Given the description of an element on the screen output the (x, y) to click on. 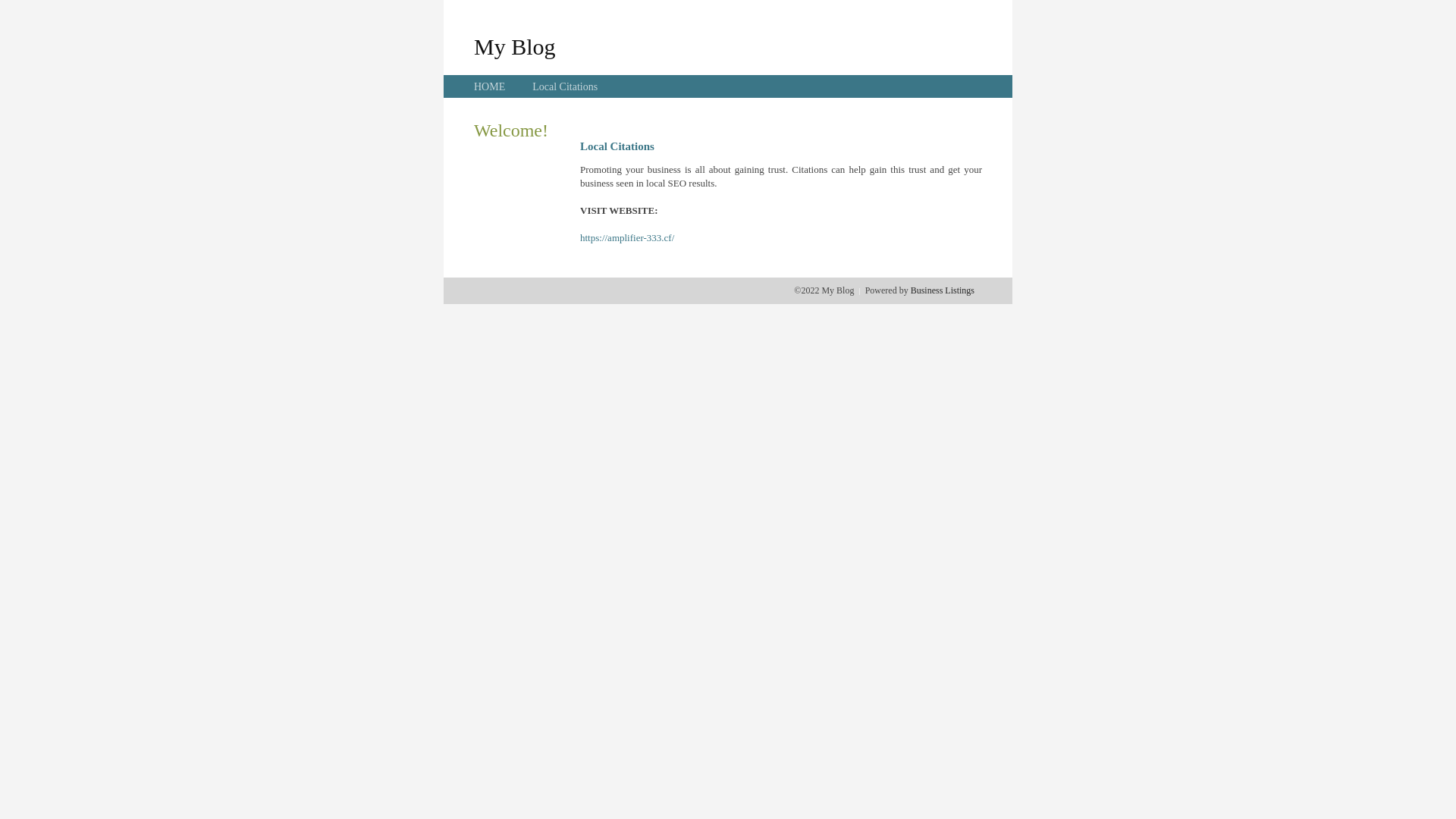
HOME Element type: text (489, 86)
https://amplifier-333.cf/ Element type: text (627, 237)
My Blog Element type: text (514, 46)
Local Citations Element type: text (564, 86)
Business Listings Element type: text (942, 290)
